Given the description of an element on the screen output the (x, y) to click on. 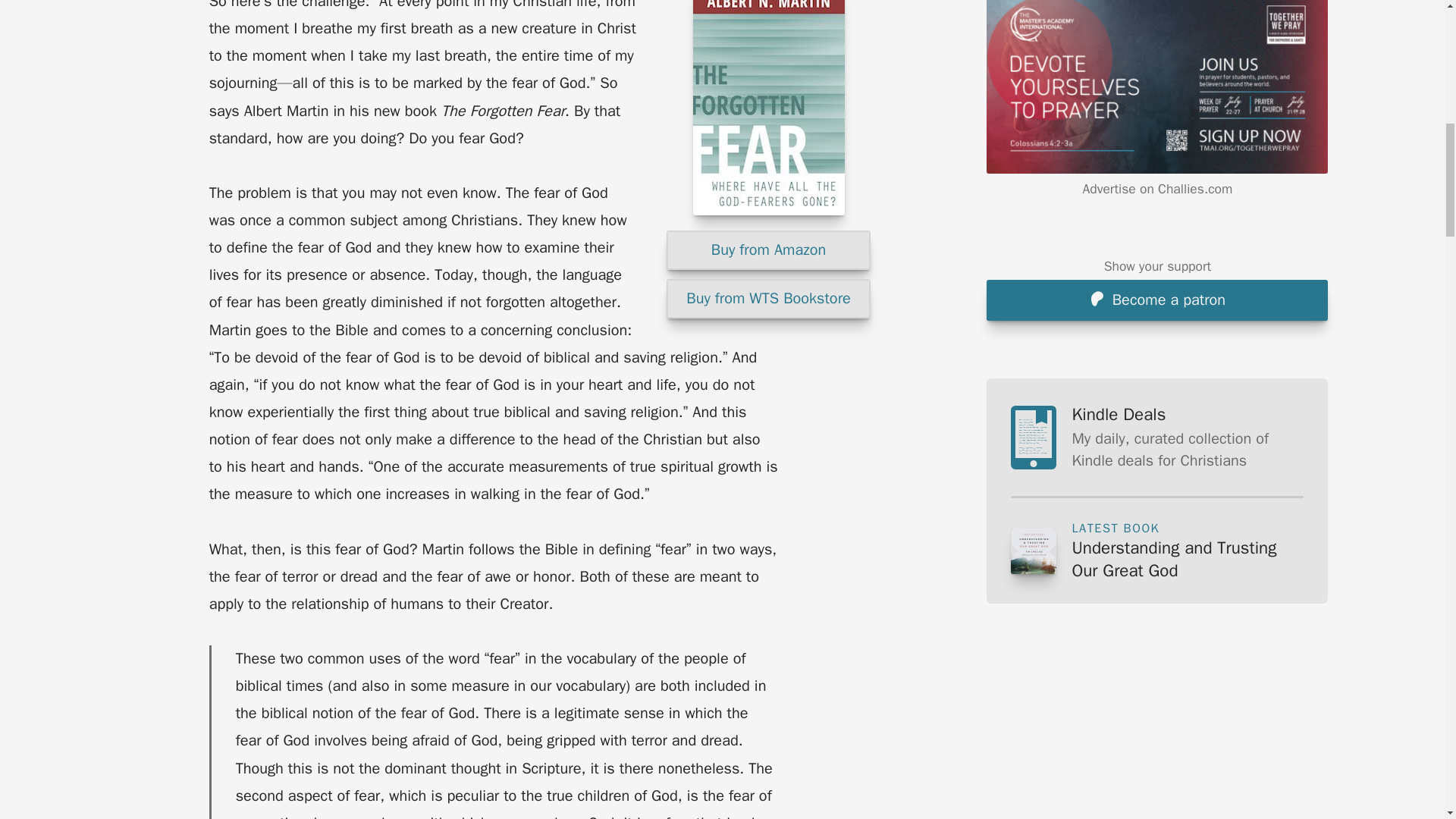
Buy from Amazon (768, 250)
Become a patron (1157, 60)
Buy from WTS Bookstore (768, 298)
Understanding and Trusting Our Great God (1187, 559)
